Given the description of an element on the screen output the (x, y) to click on. 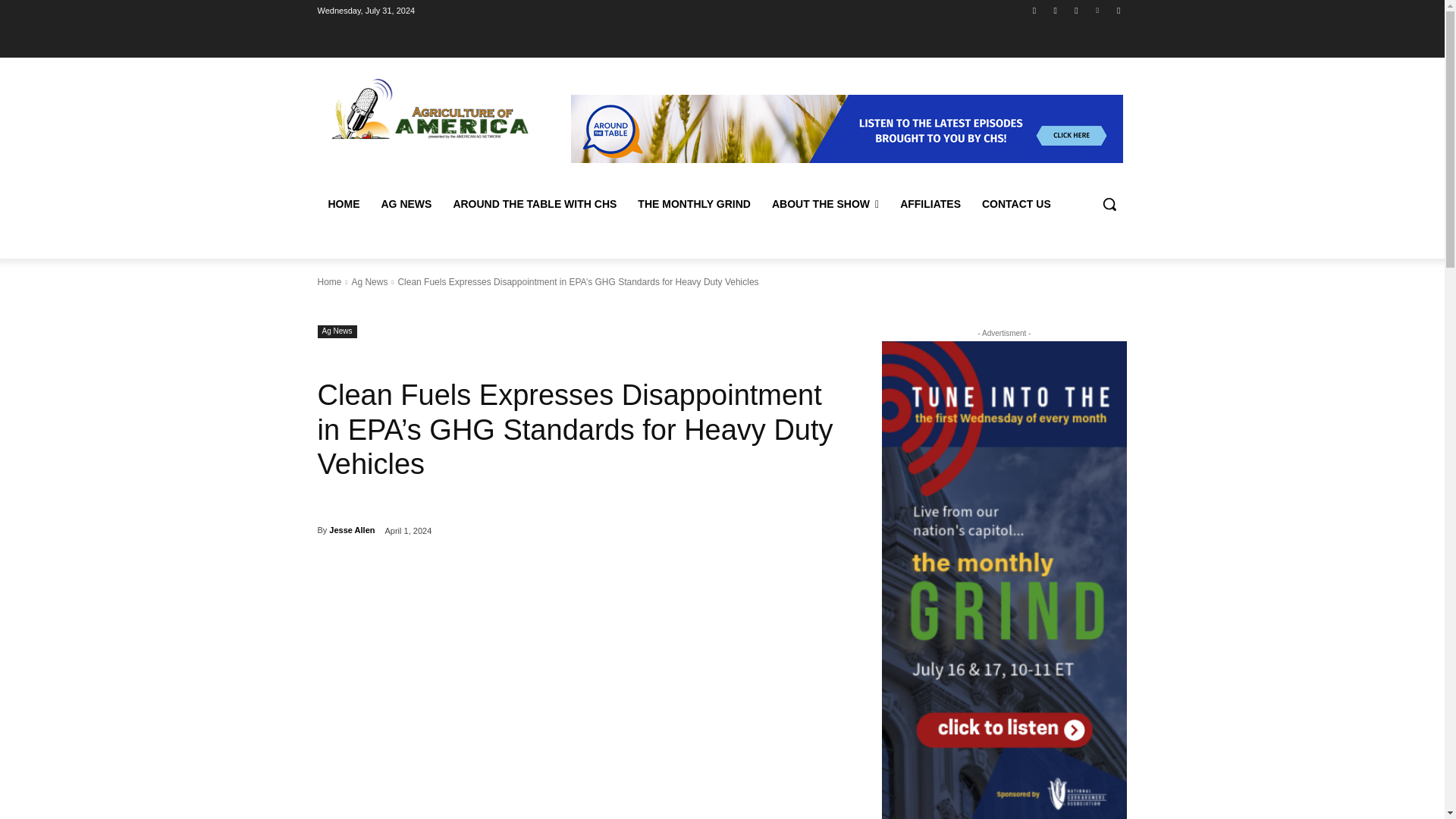
Twitter (1075, 9)
HOME (343, 203)
Ag News (368, 281)
Youtube (1117, 9)
Ag News (336, 331)
Facebook (1034, 9)
Instagram (1055, 9)
AROUND THE TABLE WITH CHS (534, 203)
Vimeo (1097, 9)
Jesse Allen (351, 529)
ABOUT THE SHOW (825, 203)
View all posts in Ag News (368, 281)
THE MONTHLY GRIND (694, 203)
AG NEWS (405, 203)
Home (328, 281)
